Given the description of an element on the screen output the (x, y) to click on. 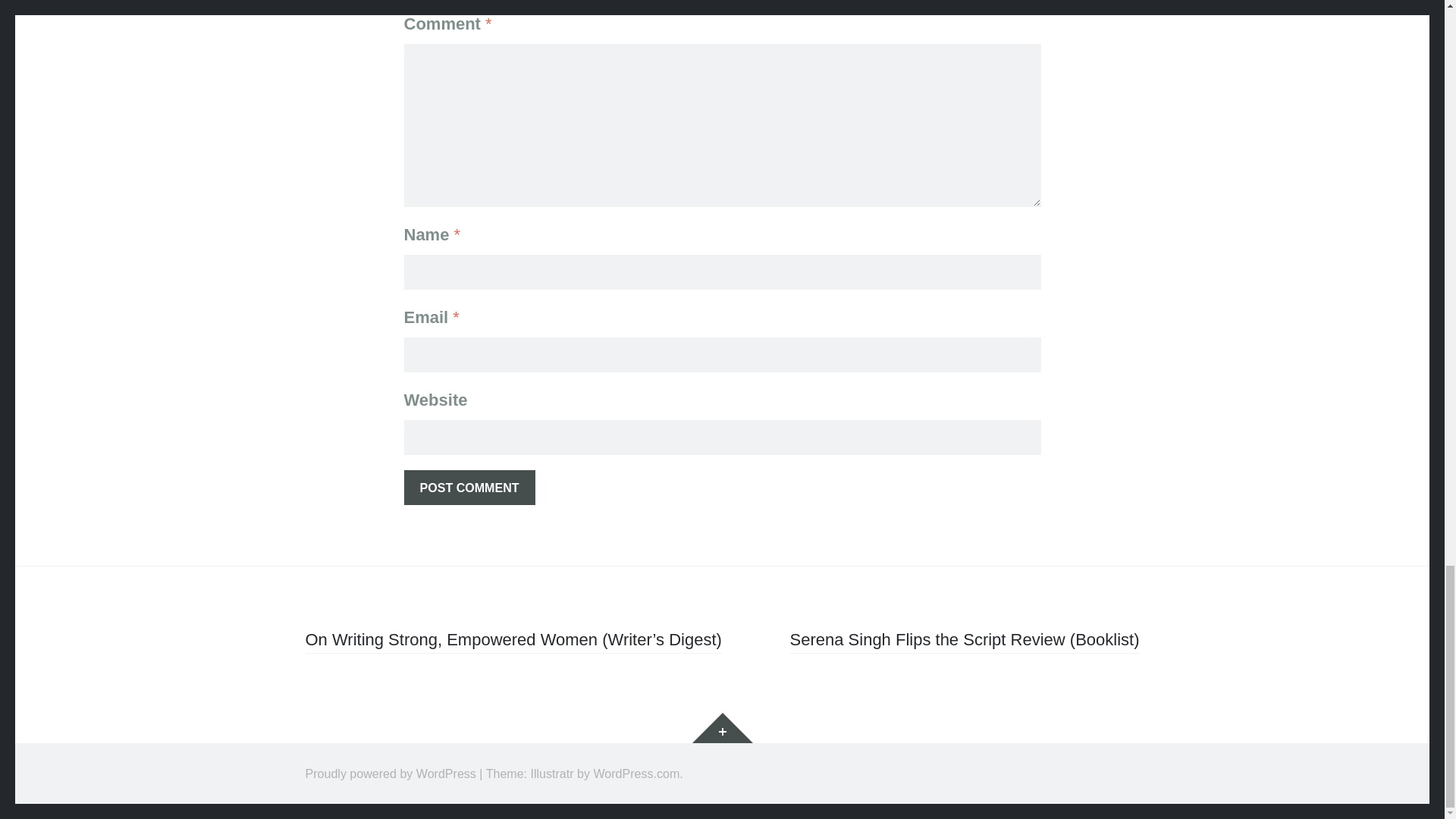
Post Comment (468, 487)
Widgets (721, 727)
WordPress.com (635, 773)
Proudly powered by WordPress (390, 773)
Post Comment (468, 487)
